Given the description of an element on the screen output the (x, y) to click on. 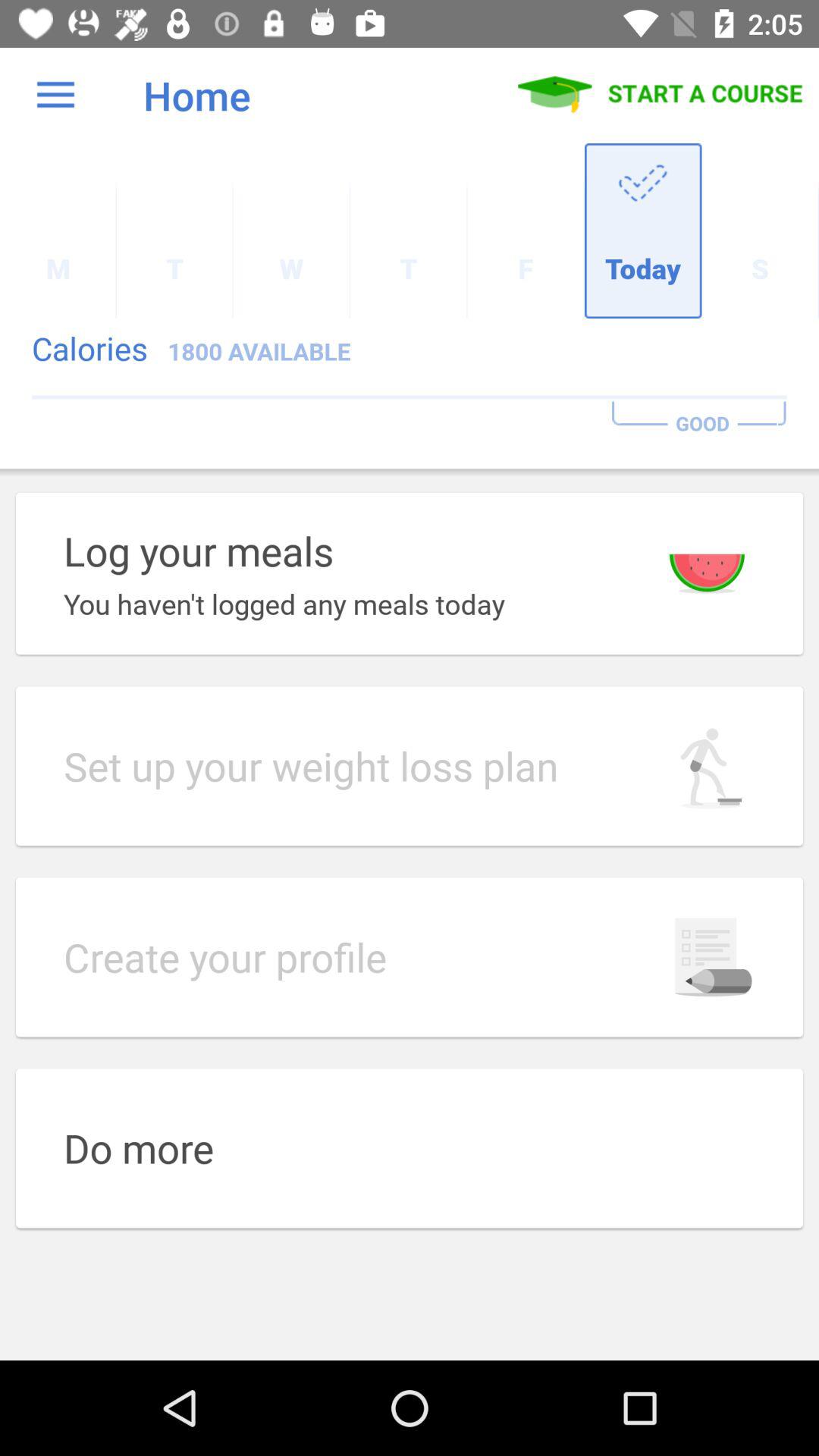
start (660, 95)
